Given the description of an element on the screen output the (x, y) to click on. 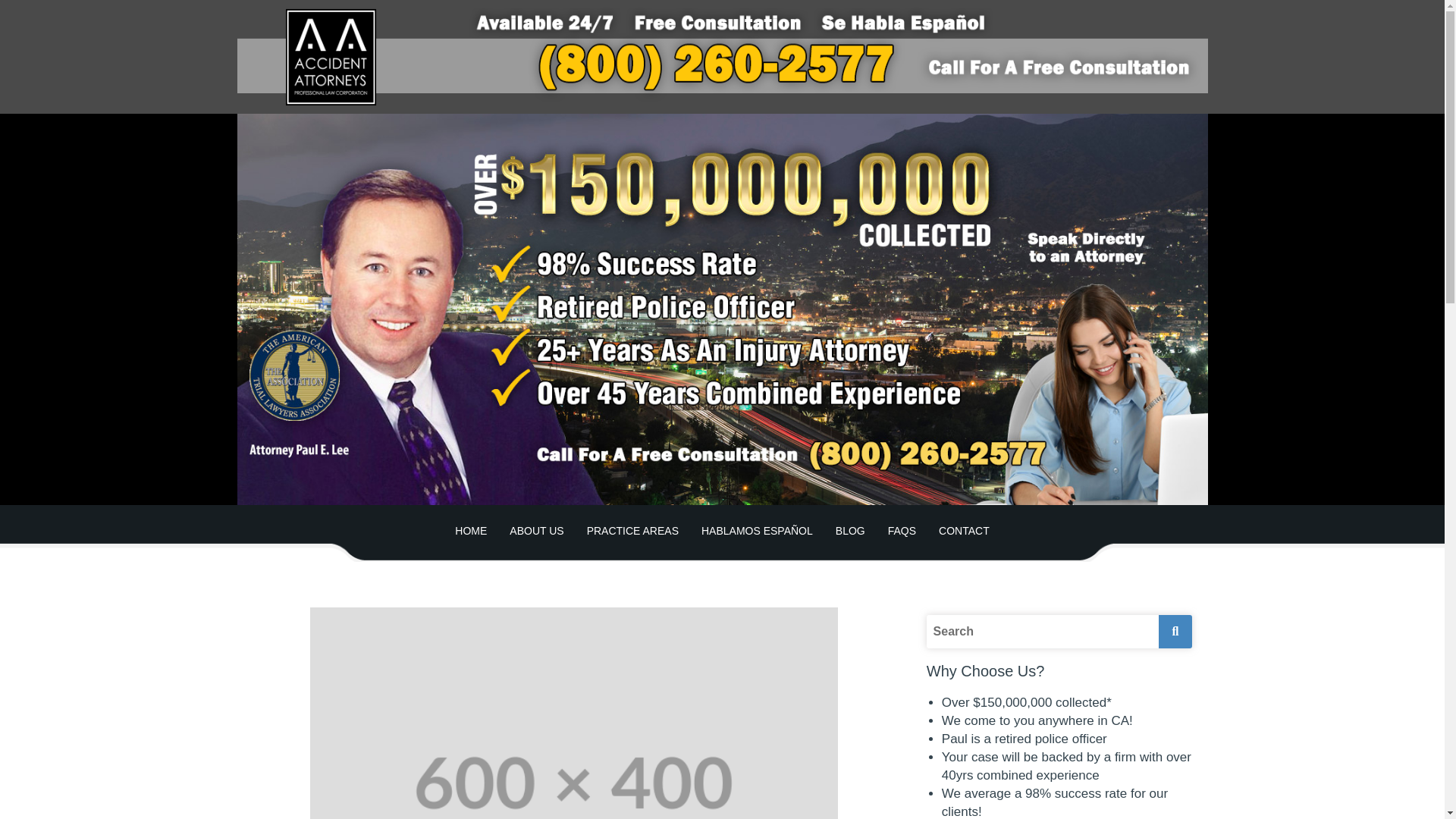
PRACTICE AREAS (632, 531)
Search (1042, 631)
FAQS (901, 531)
CONTACT (964, 531)
HOME (470, 531)
ABOUT US (536, 531)
BLOG (850, 531)
